Given the description of an element on the screen output the (x, y) to click on. 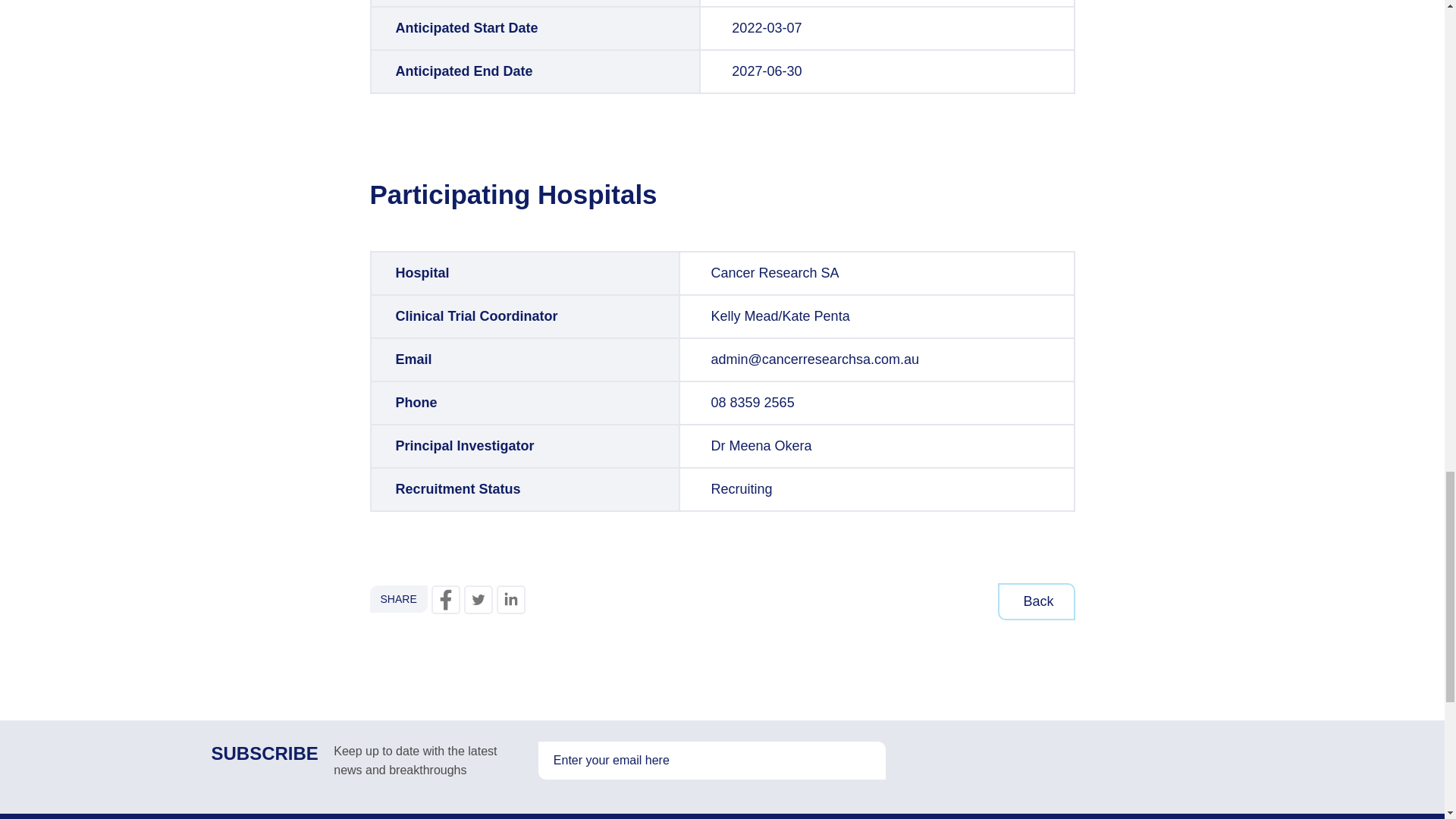
Share on Facebook (445, 599)
Share on Twitter (478, 599)
Share on LinkedIn (510, 599)
